Given the description of an element on the screen output the (x, y) to click on. 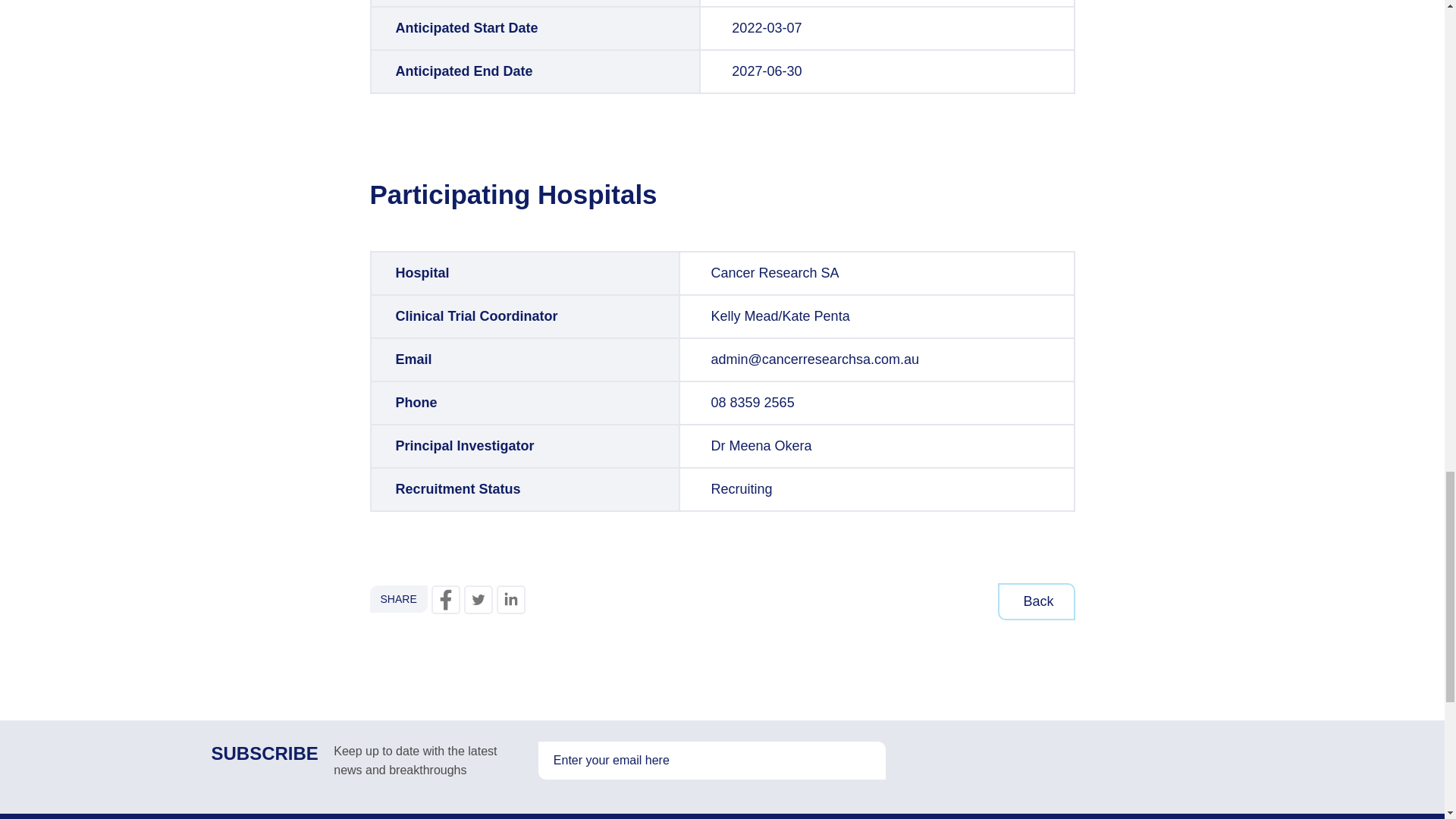
Share on Facebook (445, 599)
Share on Twitter (478, 599)
Share on LinkedIn (510, 599)
